Given the description of an element on the screen output the (x, y) to click on. 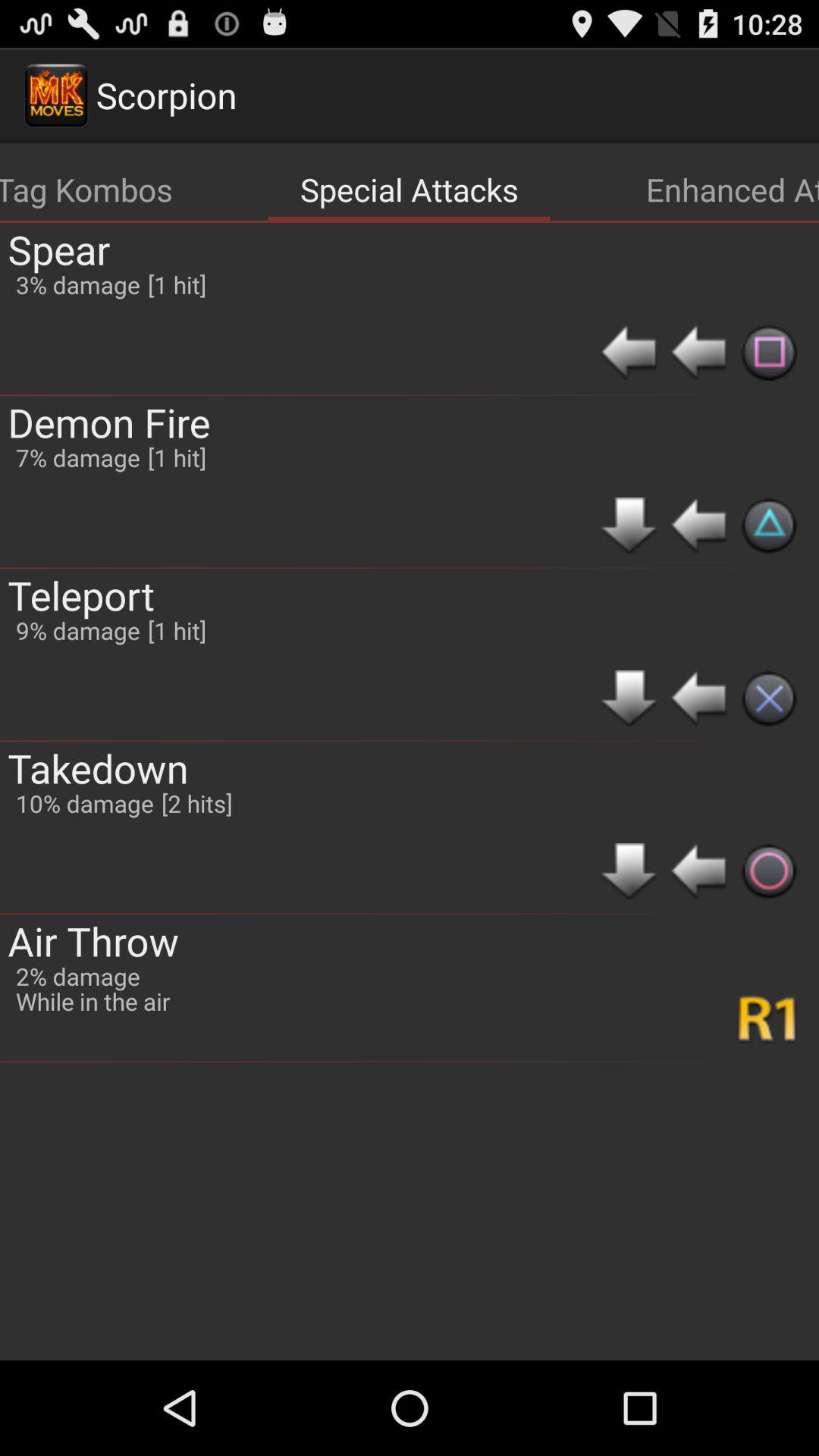
press icon to the right of the special attacks (732, 189)
